Given the description of an element on the screen output the (x, y) to click on. 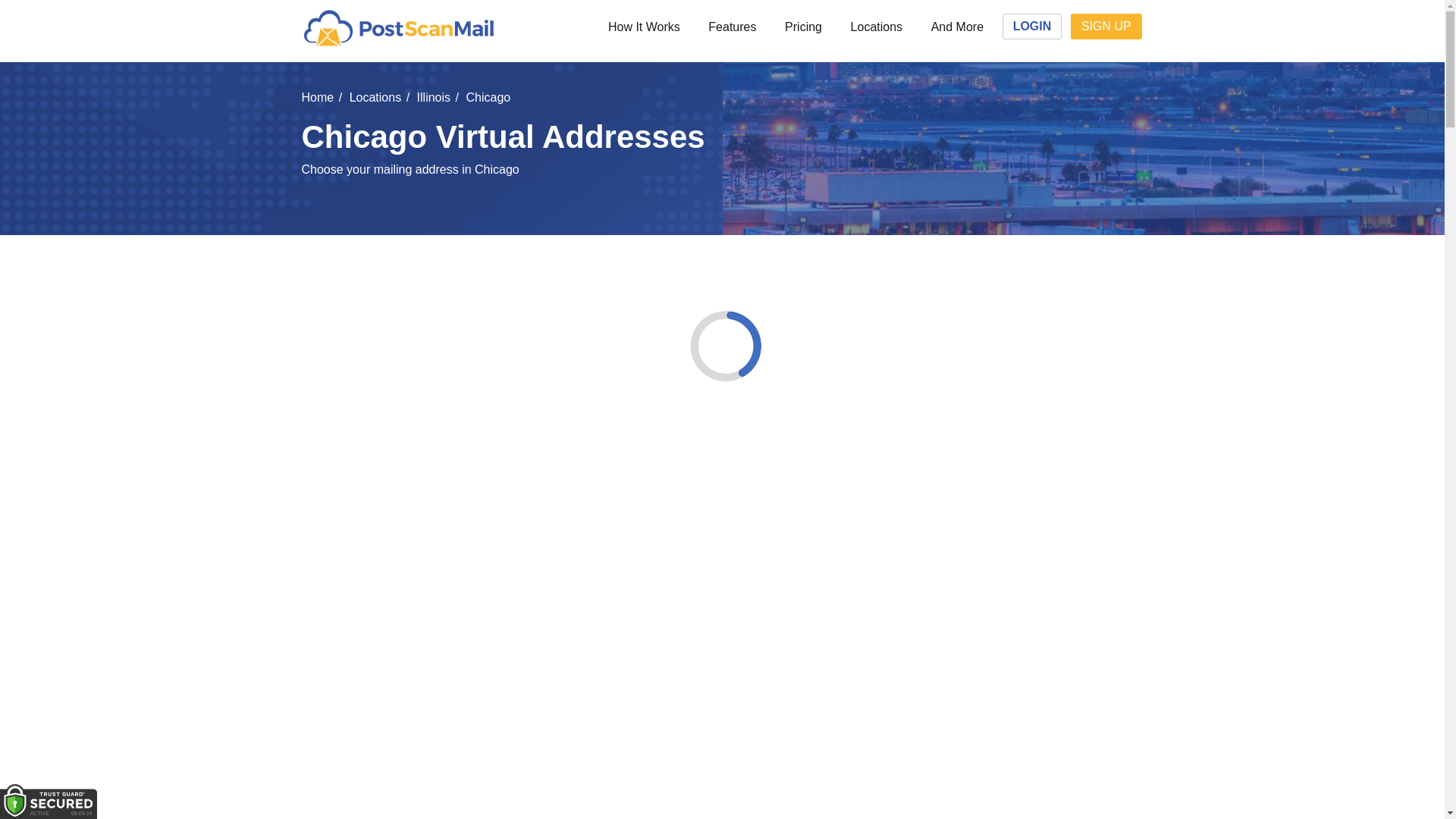
Filter By (680, 299)
Chicago (488, 97)
Locations (876, 27)
Home (317, 97)
Illinois (432, 97)
SIGN UP (1105, 26)
LOGIN (1032, 26)
How It Works (643, 27)
Pricing (802, 27)
Features (732, 27)
